Given the description of an element on the screen output the (x, y) to click on. 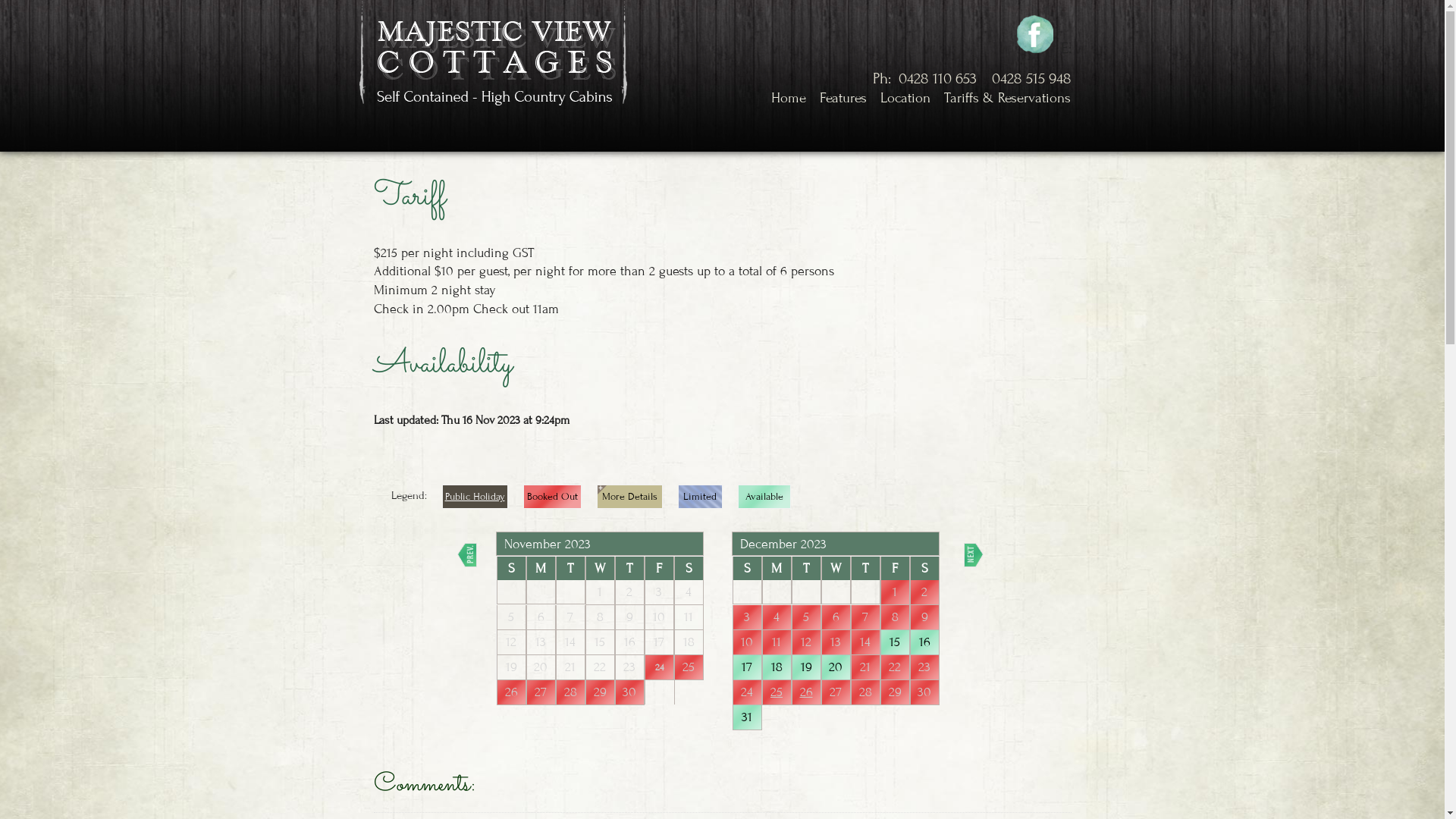
Features Element type: text (842, 98)
Tariffs & Reservations Element type: text (1007, 98)
Next Element type: text (972, 554)
0428 515 948 Element type: text (1031, 78)
0428 110 653 Element type: text (936, 78)
Location Element type: text (905, 98)
Prev Element type: text (466, 554)
Home Element type: text (788, 98)
